Given the description of an element on the screen output the (x, y) to click on. 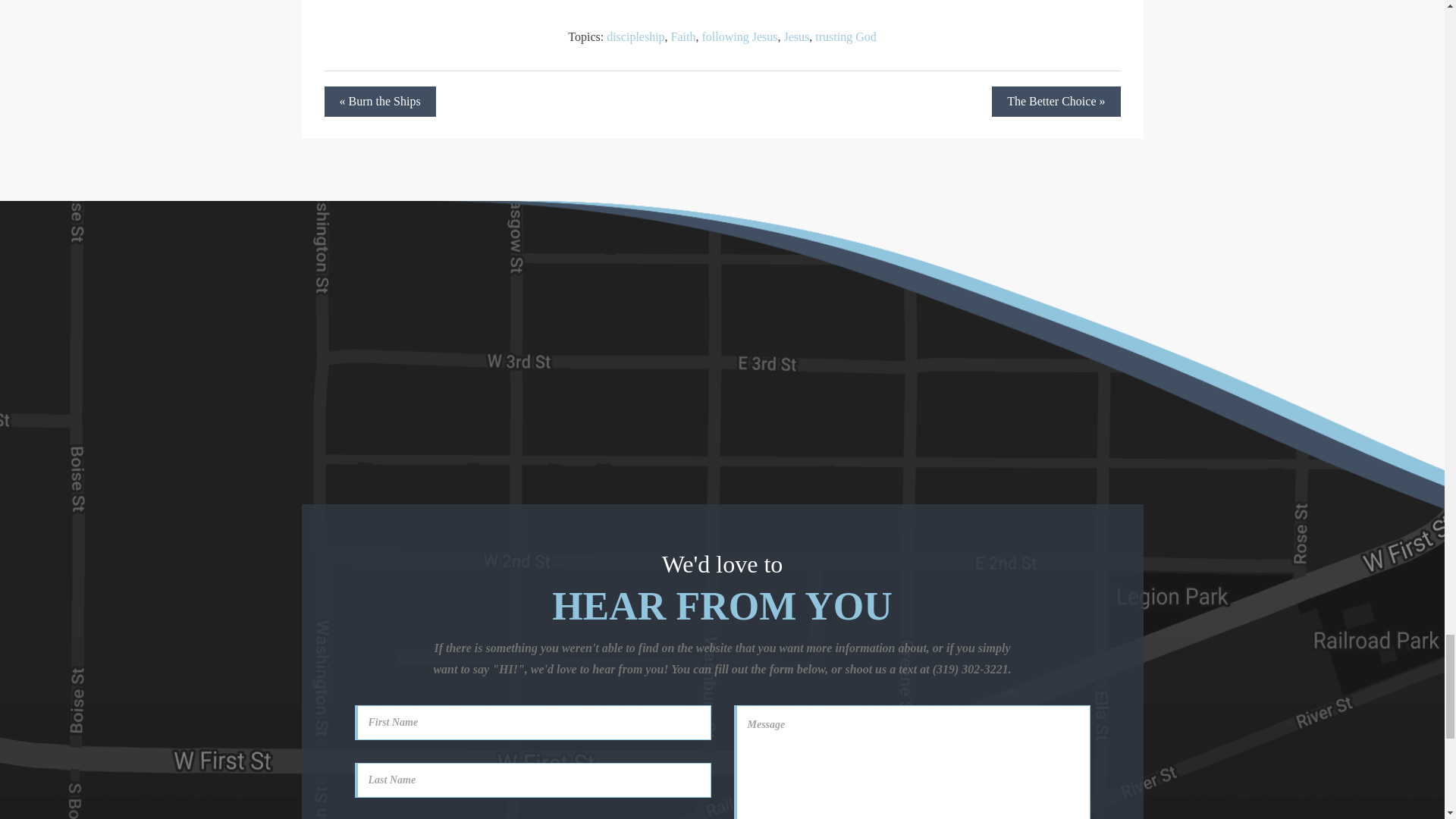
Faith (683, 36)
discipleship (635, 36)
Jesus (796, 36)
trusting God (845, 36)
following Jesus (739, 36)
